Given the description of an element on the screen output the (x, y) to click on. 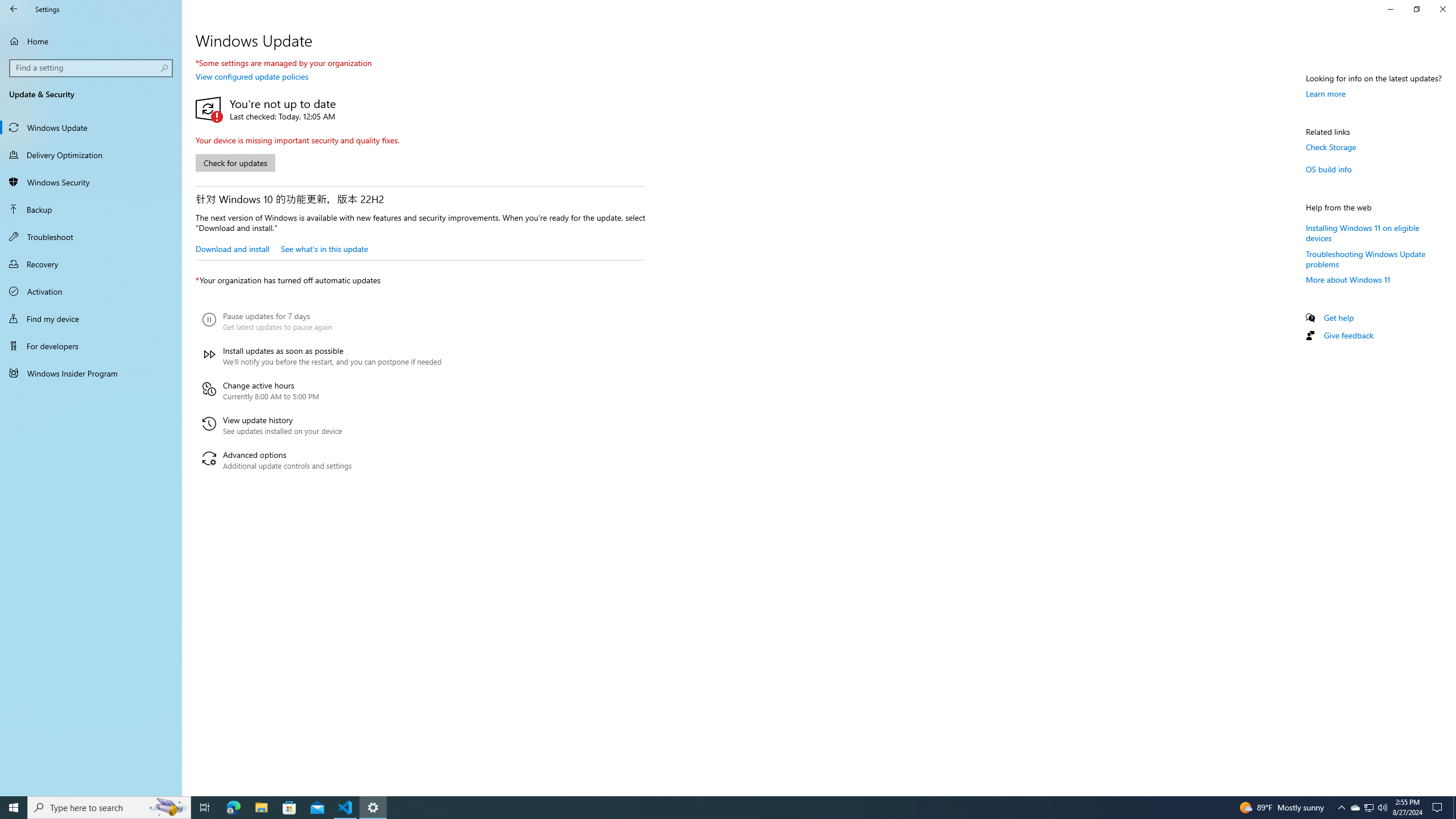
Backup (91, 208)
Get help (1338, 317)
Search box, Find a setting (91, 67)
OS build info (1329, 168)
Delivery Optimization (91, 154)
Learn more (1326, 93)
Microsoft Edge (233, 807)
